Given the description of an element on the screen output the (x, y) to click on. 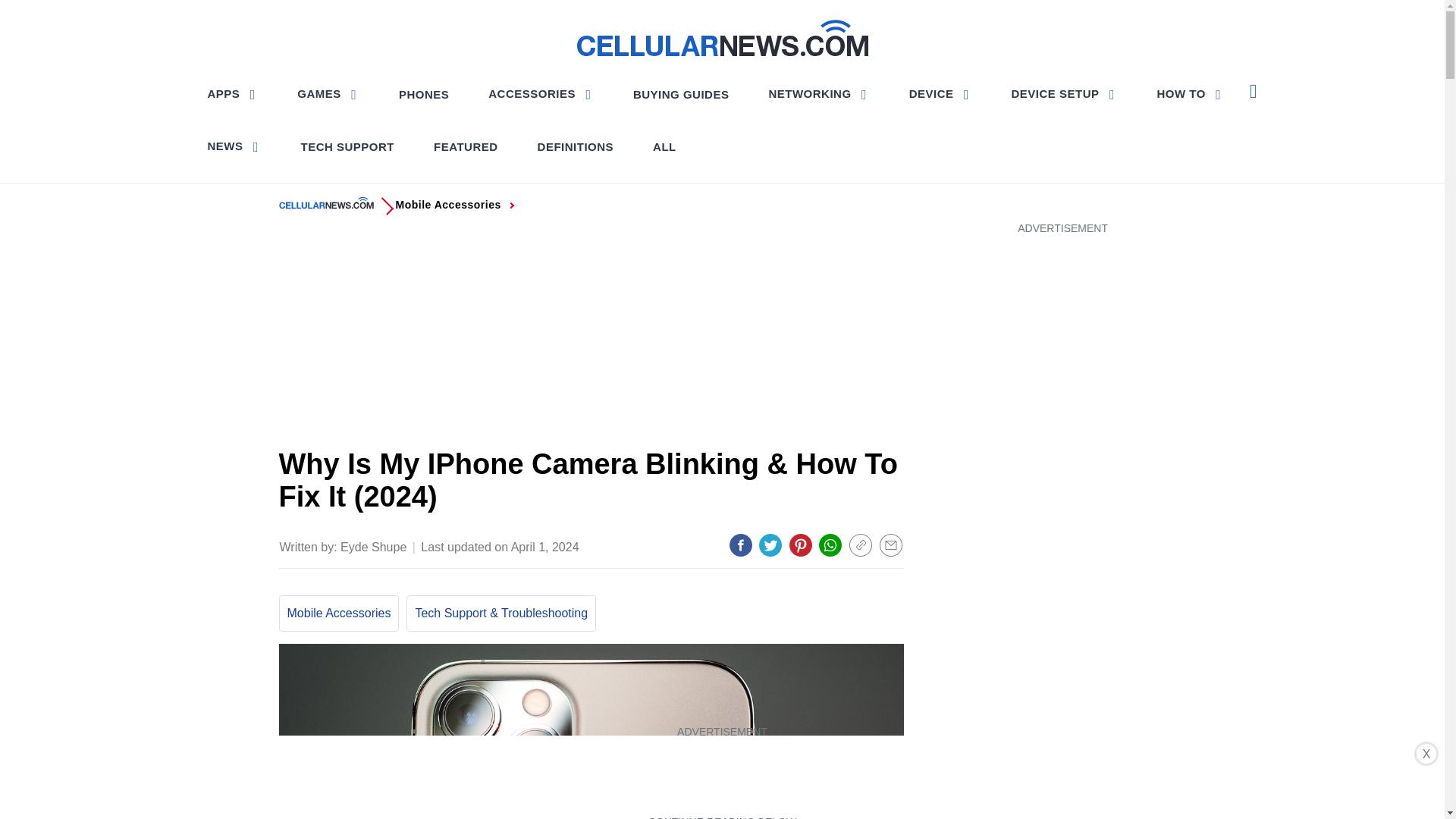
Share on twitter (769, 544)
Share on Pinterest (800, 544)
Advertisement (591, 336)
Advertisement (721, 775)
Mail the Link (890, 544)
Copy to Clipboard (860, 544)
GAMES (327, 93)
PHONES (424, 94)
Share on facebook (740, 544)
ACCESSORIES (540, 93)
BUYING GUIDES (681, 94)
Share on Whatsapp (829, 544)
DEVICE (940, 93)
APPS (233, 93)
NETWORKING (818, 93)
